Given the description of an element on the screen output the (x, y) to click on. 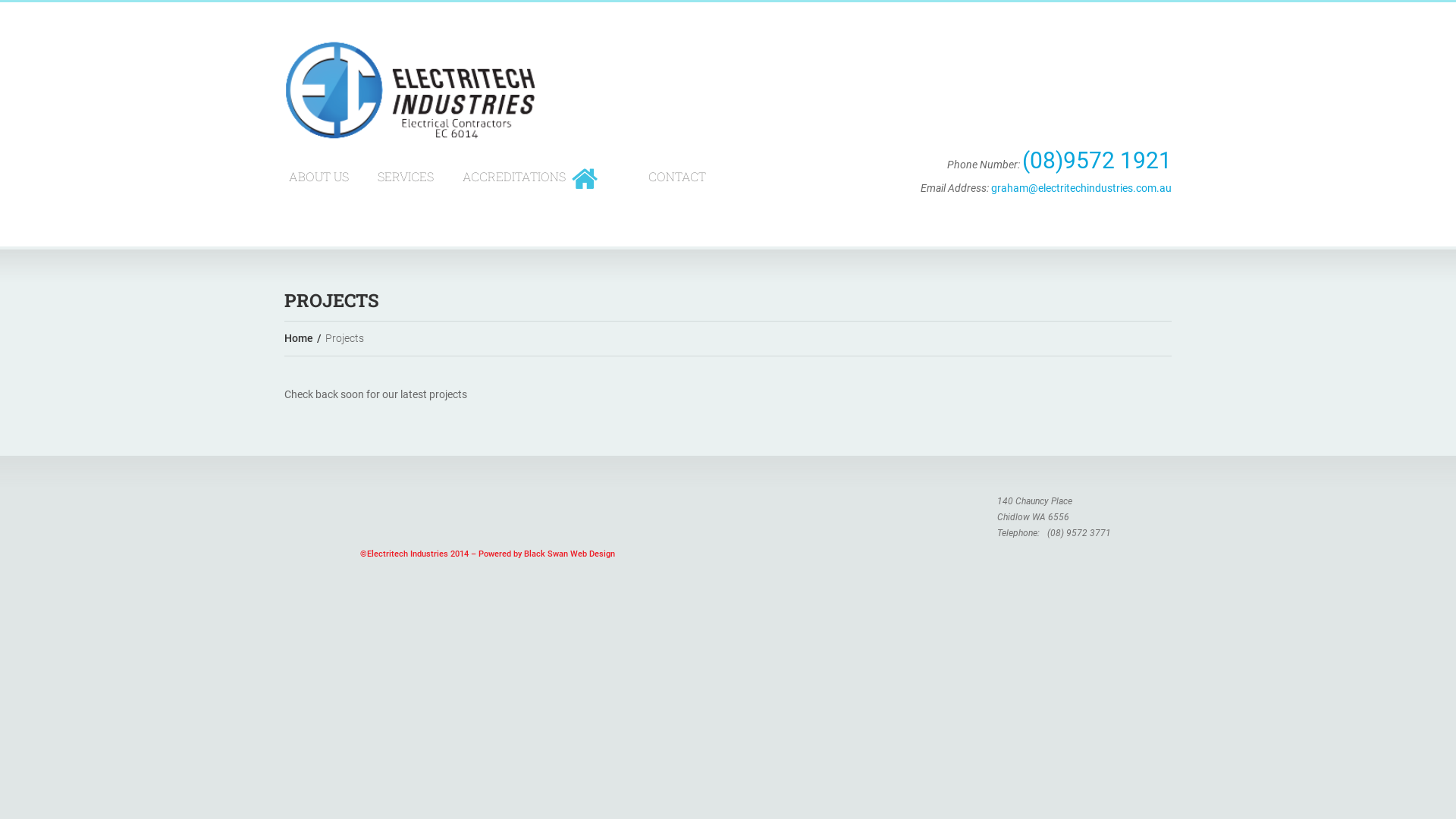
Black Swan Web Design Element type: text (569, 553)
SERVICES Element type: text (405, 176)
Home Element type: text (298, 338)
graham@electritechindustries.com.au Element type: text (1081, 188)
ACCREDITATIONS Element type: text (513, 176)
HOME Element type: text (584, 178)
ABOUT US Element type: text (318, 176)
(08)9572 1921 Element type: text (1096, 160)
Electrical Services Mundaring WA Element type: hover (410, 94)
CONTACT Element type: text (677, 176)
